Given the description of an element on the screen output the (x, y) to click on. 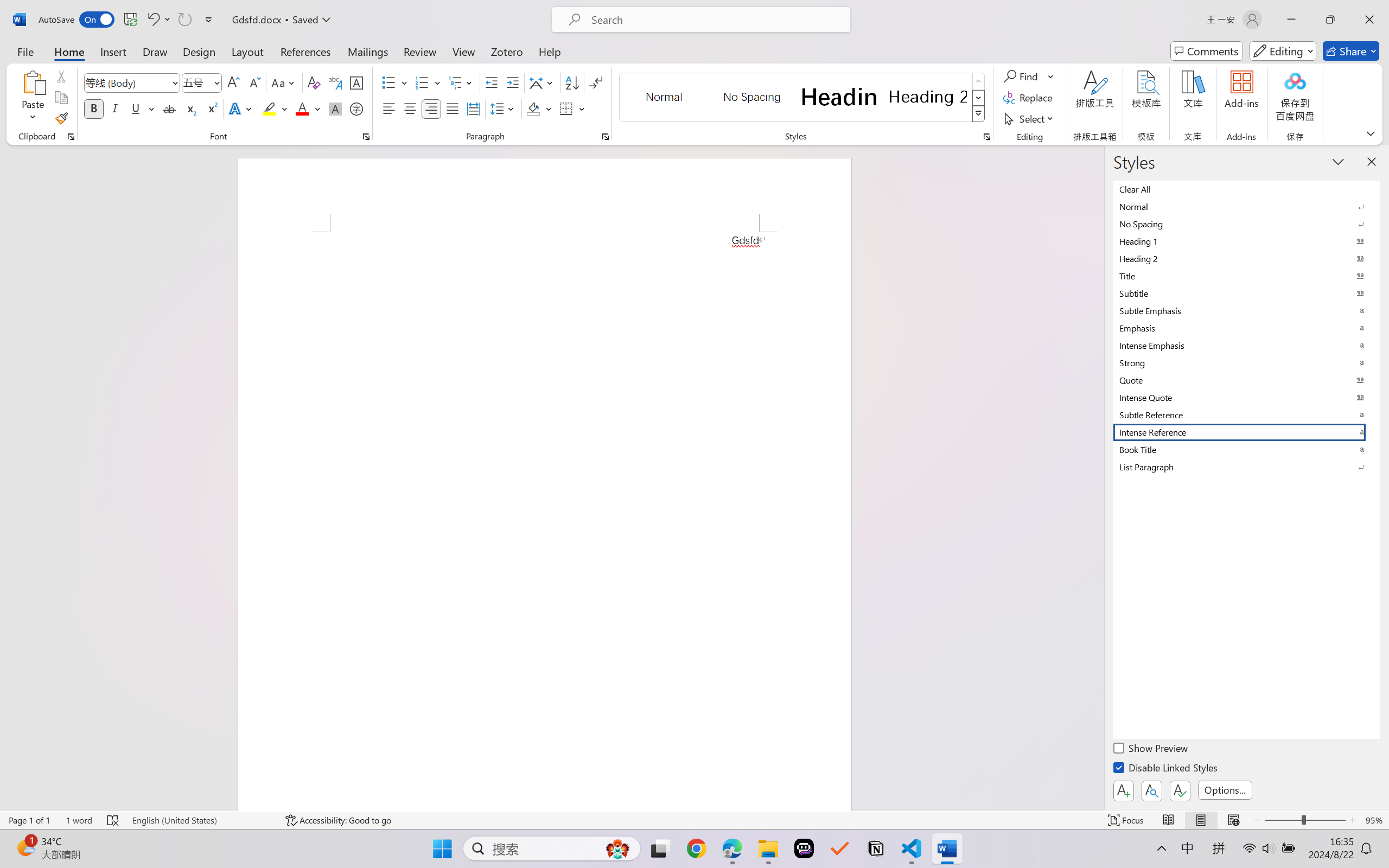
Replace... (1029, 97)
Character Shading (334, 108)
Options... (1224, 789)
Select (1030, 118)
Change Case (284, 82)
Quote (1246, 379)
Normal (1246, 206)
Align Right (431, 108)
Title (1246, 275)
Show Preview (1151, 749)
